Given the description of an element on the screen output the (x, y) to click on. 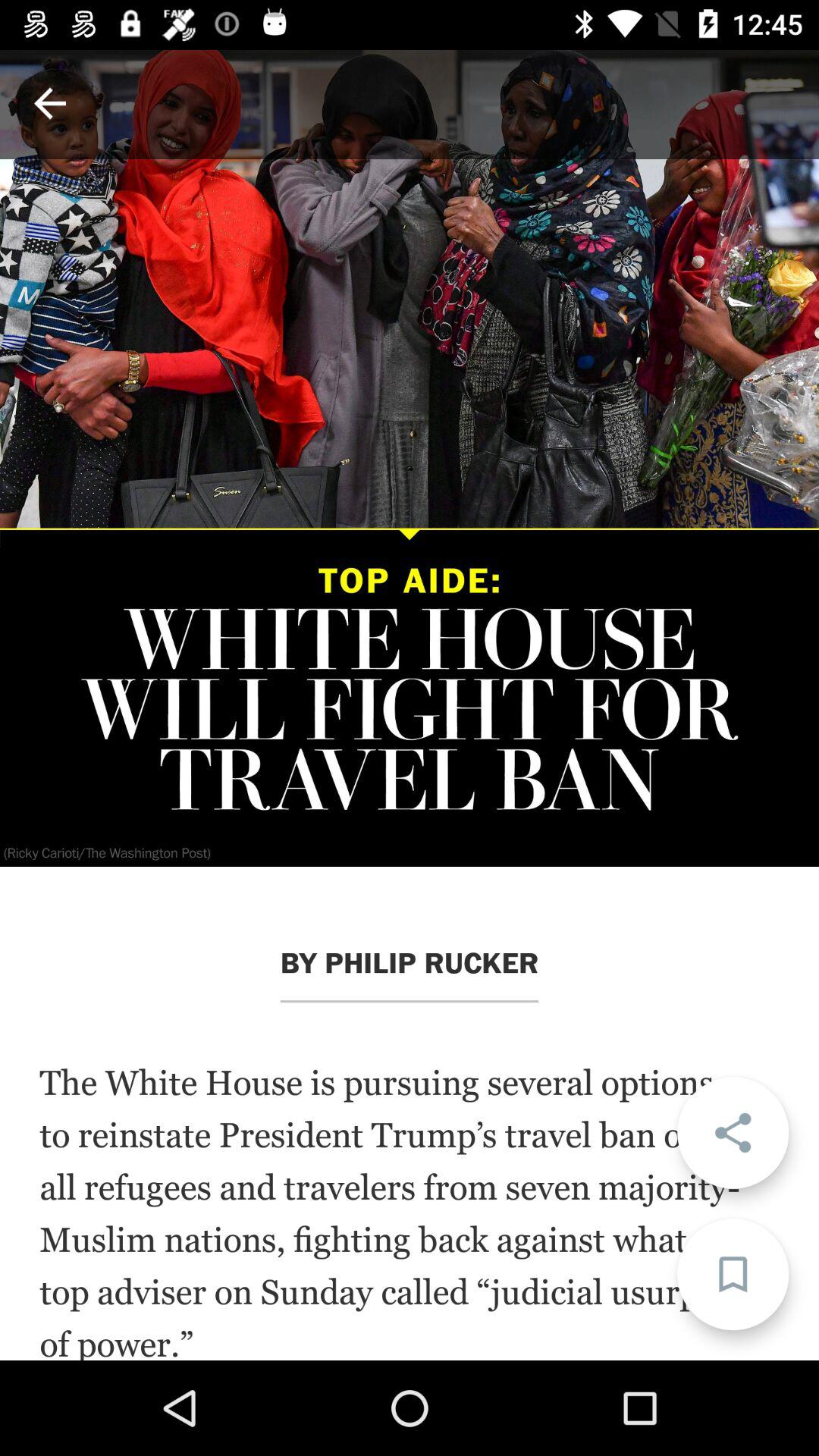
turn on the icon at the top left corner (49, 103)
